Given the description of an element on the screen output the (x, y) to click on. 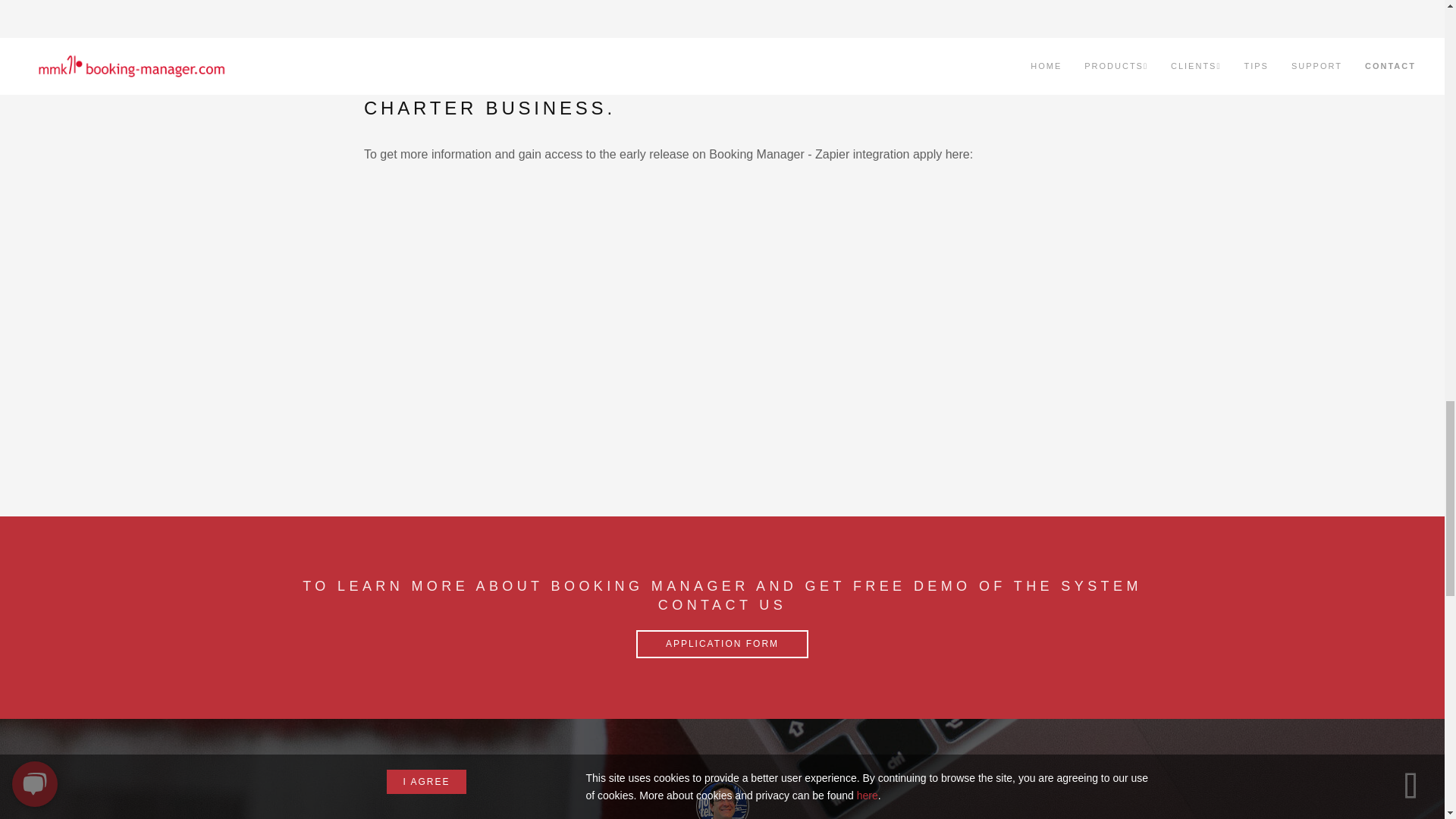
APPLICATION FORM (722, 643)
APPLICATION FORM (721, 643)
